Given the description of an element on the screen output the (x, y) to click on. 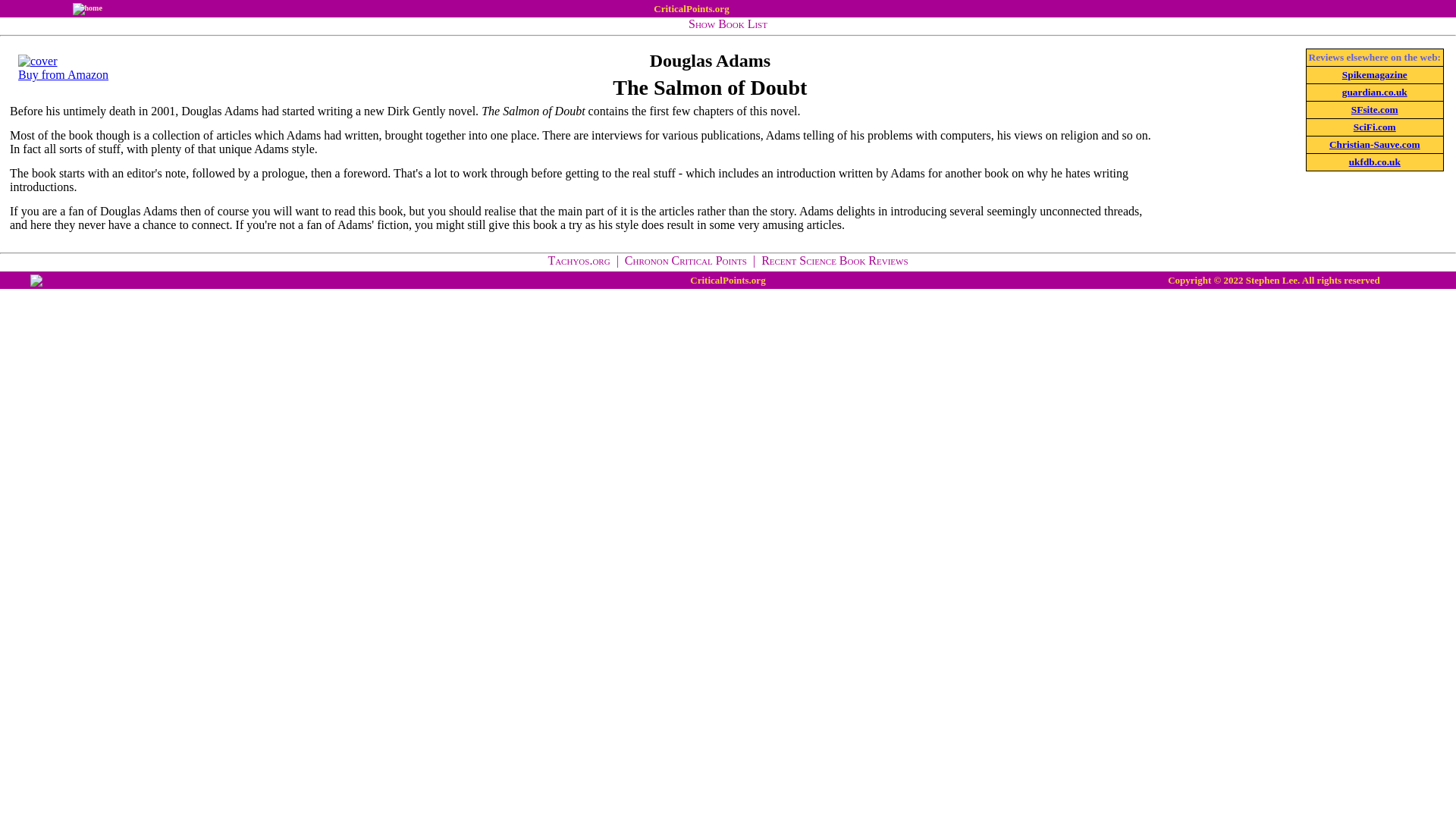
Show Book List (727, 23)
Chronon Critical Points (685, 259)
Douglas Adams (709, 60)
SFsite.com (1374, 109)
CriticalPoints.org (691, 8)
Books by Douglas Adams (709, 60)
home (86, 8)
Buy from Amazon (62, 67)
CriticalPoints.org (727, 279)
Spikemagazine (1374, 74)
